Given the description of an element on the screen output the (x, y) to click on. 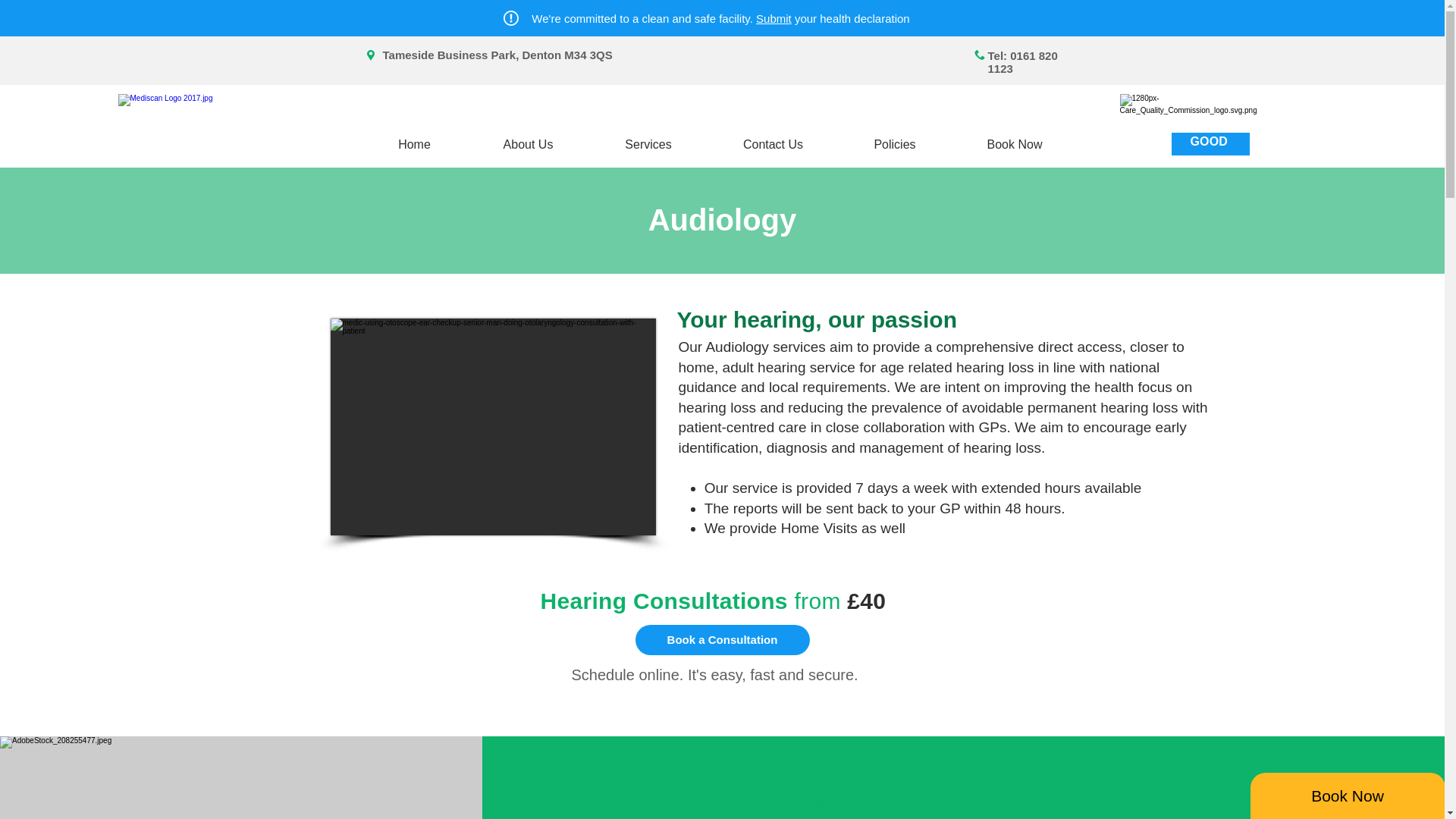
Home (414, 144)
About Us (528, 144)
Contact Us (772, 144)
Services (648, 144)
Submit (773, 18)
Book a Consultation (721, 639)
Policies (894, 144)
Book Now (1014, 144)
